Given the description of an element on the screen output the (x, y) to click on. 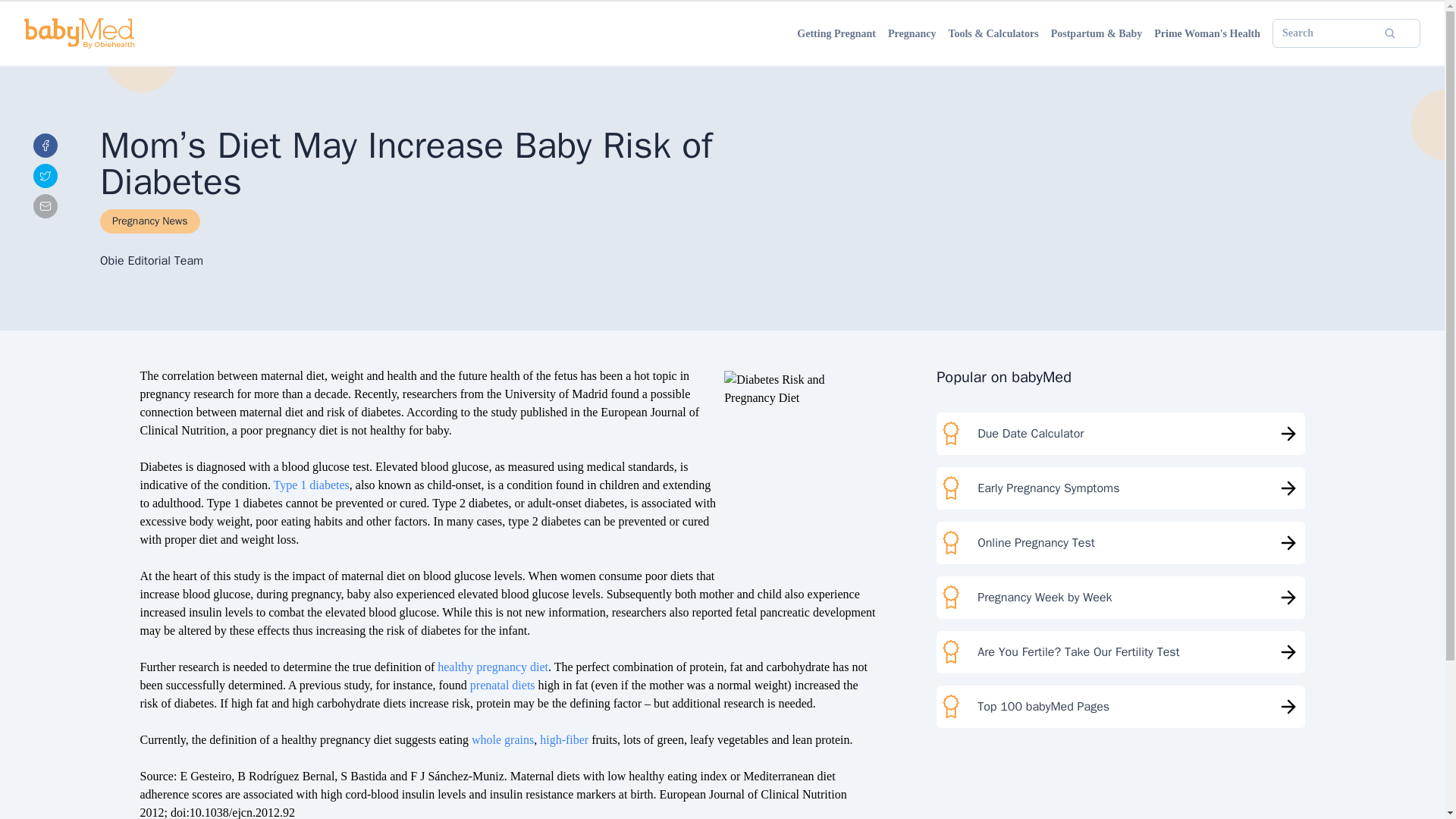
Top 100 babyMed Pages (1120, 706)
whole grains (502, 739)
Type 1 diabetes (311, 484)
Early Pregnancy Symptoms (1120, 487)
Prime Woman's Health (1207, 33)
Pregnancy Week by Week (1120, 597)
Are You Fertile? Take Our Fertility Test (1120, 651)
prenatal diets (501, 684)
Due Date Calculator (1120, 433)
high-fiber (564, 739)
